Given the description of an element on the screen output the (x, y) to click on. 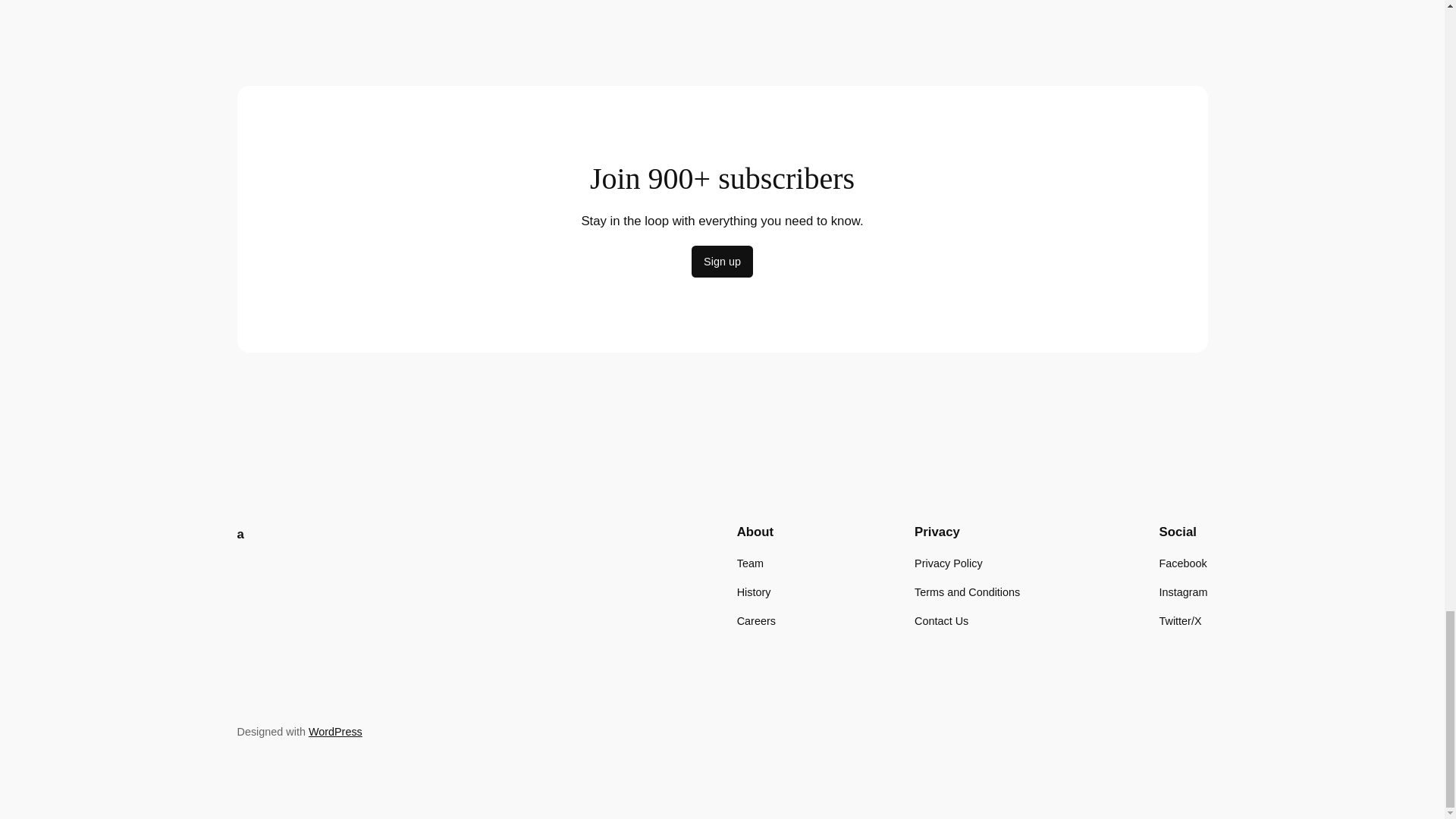
Facebook (1182, 563)
Contact Us (941, 620)
Privacy Policy (948, 563)
Team (749, 563)
Careers (756, 620)
History (753, 591)
Sign up (721, 261)
Instagram (1182, 591)
WordPress (335, 731)
Terms and Conditions (967, 591)
